Given the description of an element on the screen output the (x, y) to click on. 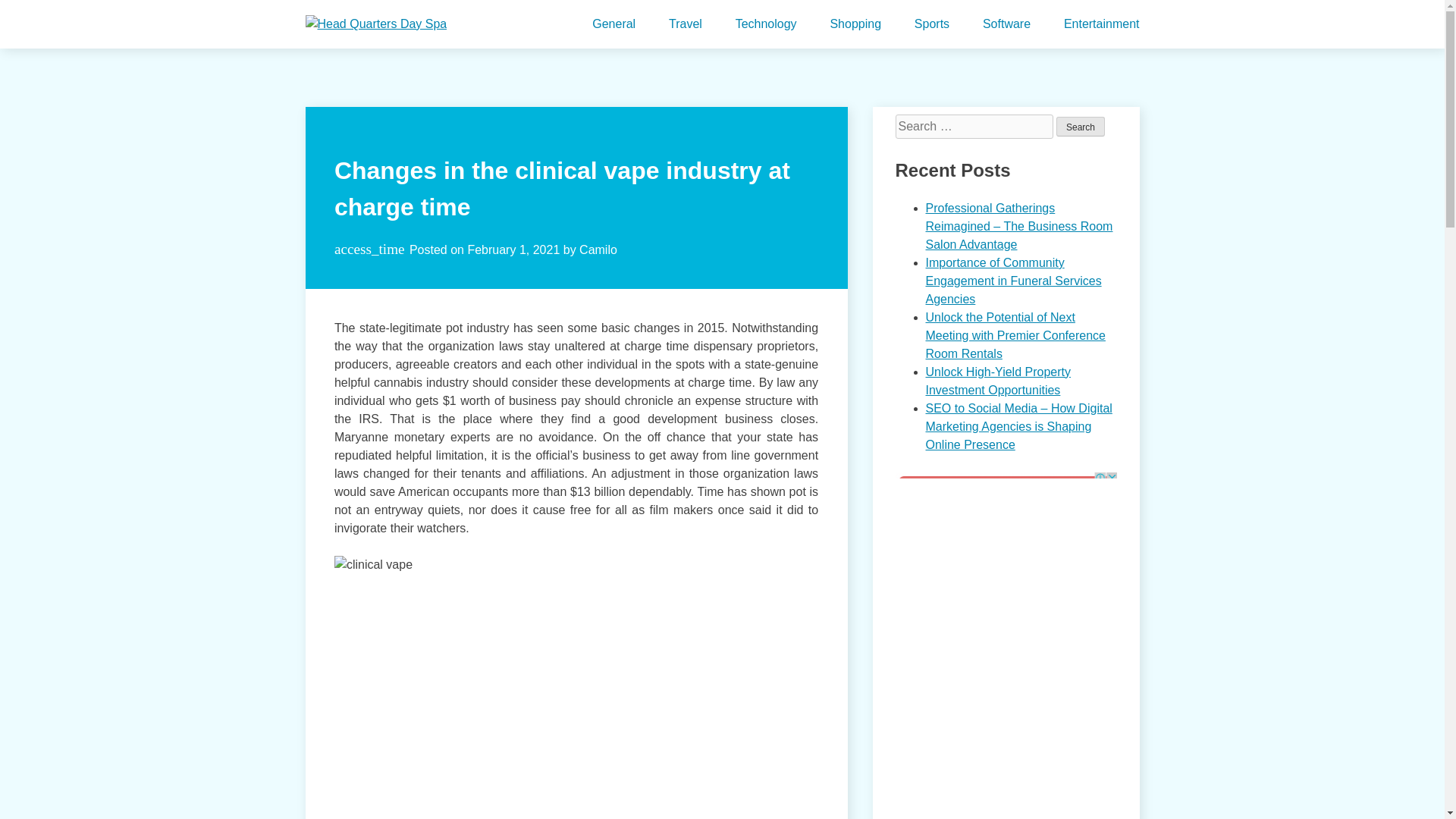
February 1, 2021 (513, 249)
Search (1081, 126)
Camilo (598, 249)
Search (1081, 126)
Software (1006, 24)
Technology (765, 24)
Unlock High-Yield Property Investment Opportunities (997, 380)
Search (1081, 126)
General (613, 24)
